Given the description of an element on the screen output the (x, y) to click on. 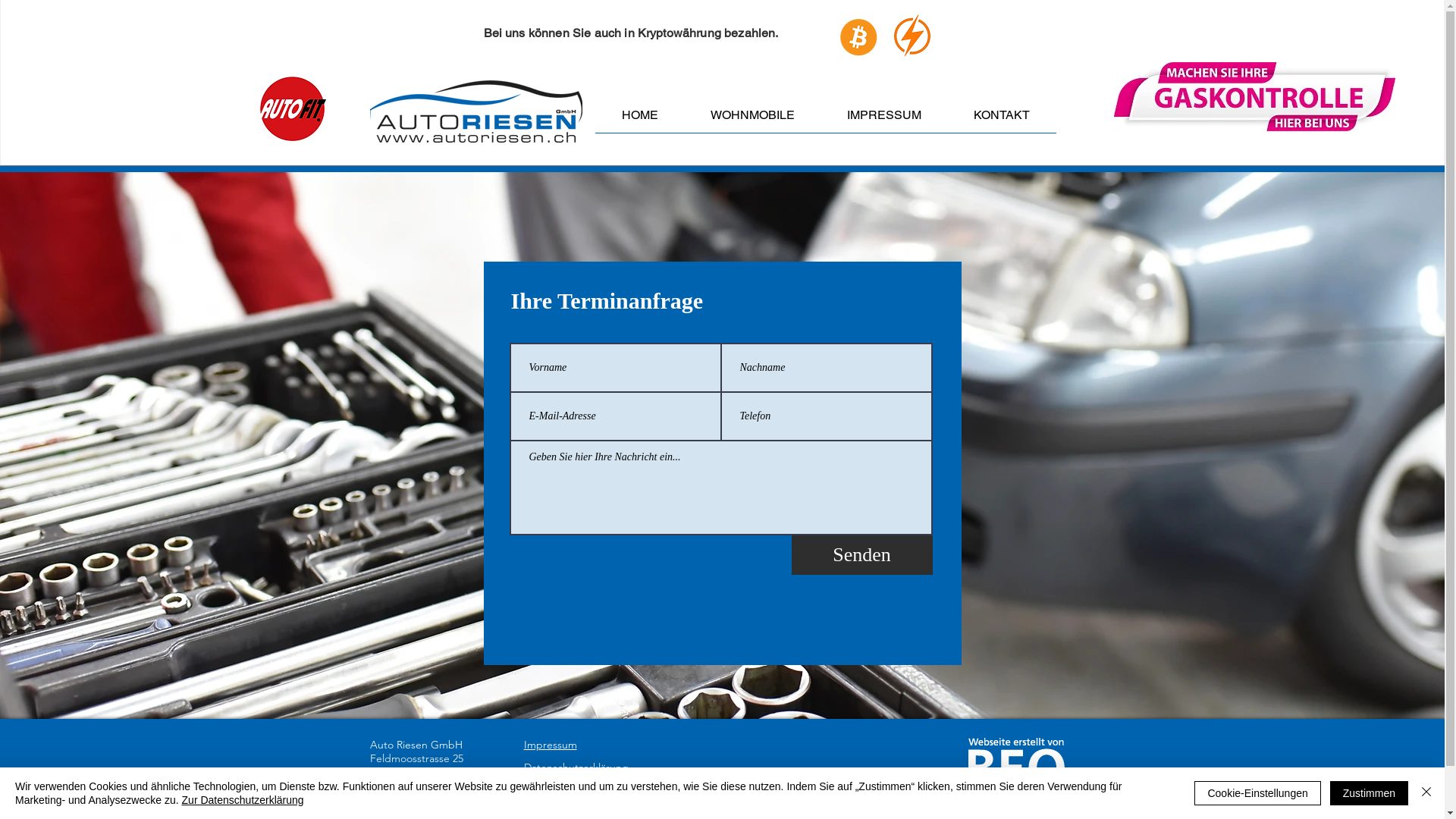
Zustimmen Element type: text (1369, 793)
WOHNMOBILE Element type: text (752, 119)
Senden Element type: text (861, 554)
KONTAKT Element type: text (1001, 119)
Impressum Element type: text (549, 744)
Cookie-Einstellungen Element type: text (1257, 793)
IMPRESSUM Element type: text (883, 119)
HOME Element type: text (639, 119)
